Given the description of an element on the screen output the (x, y) to click on. 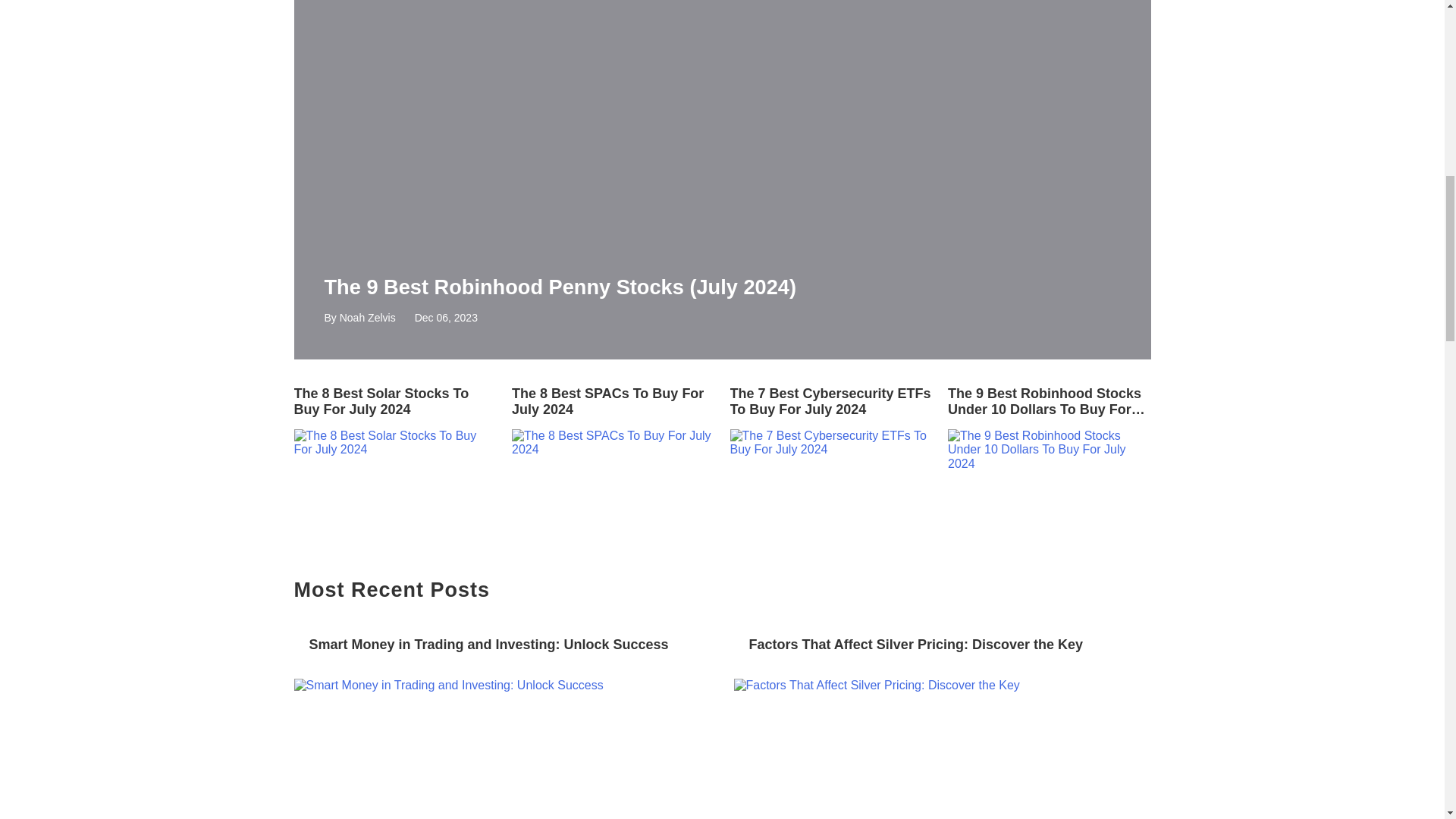
Smart Money in Trading and Investing: Unlock Success (501, 644)
The 8 Best Solar Stocks To Buy For July 2024 (395, 401)
The 8 Best SPACs To Buy For July 2024 (613, 401)
Factors That Affect Silver Pricing: Discover the Key (942, 644)
The 7 Best Cybersecurity ETFs To Buy For July 2024 (831, 401)
